Given the description of an element on the screen output the (x, y) to click on. 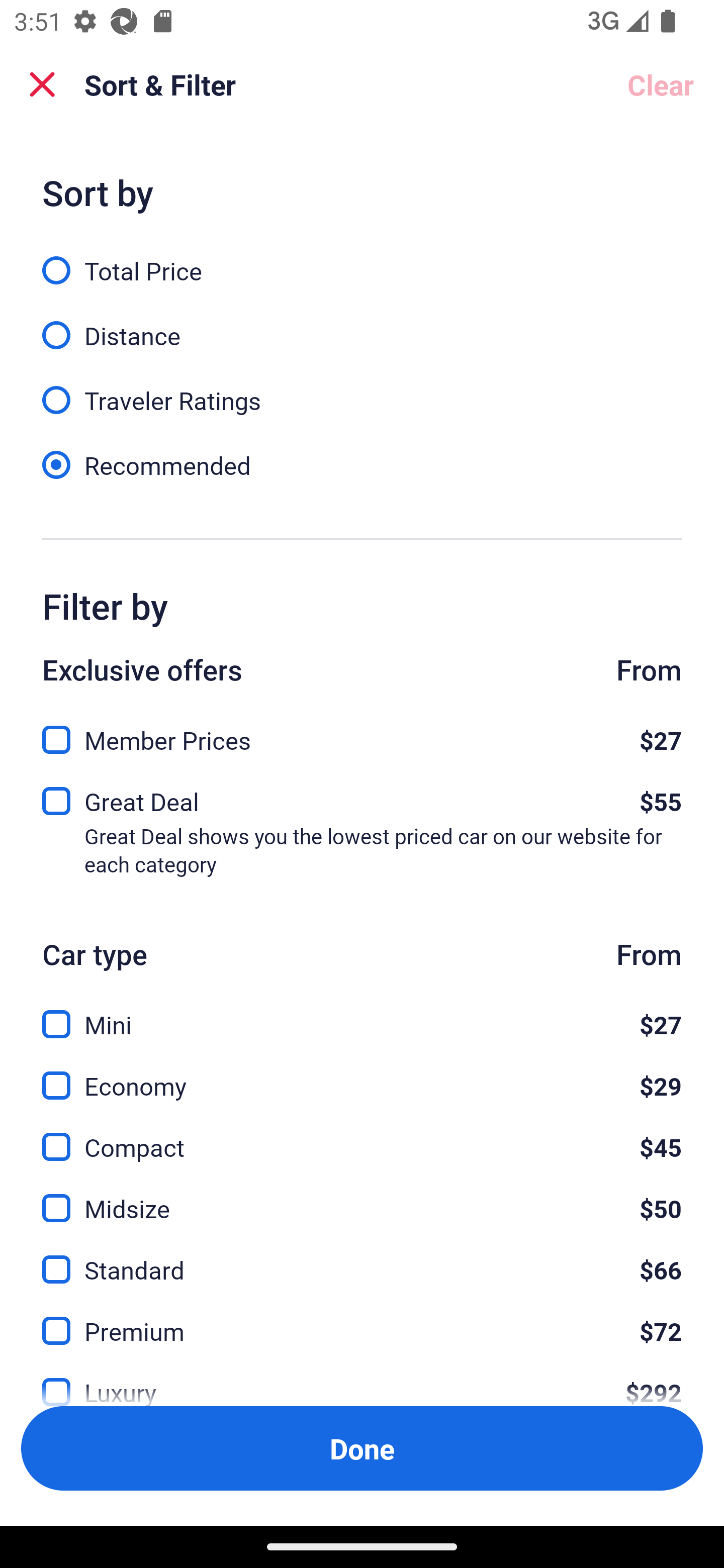
Close Sort and Filter (42, 84)
Clear (660, 84)
Total Price (361, 259)
Distance (361, 324)
Traveler Ratings (361, 389)
Member Prices, $27 Member Prices $27 (361, 734)
Mini, $27 Mini $27 (361, 1013)
Economy, $29 Economy $29 (361, 1074)
Compact, $45 Compact $45 (361, 1135)
Midsize, $50 Midsize $50 (361, 1196)
Standard, $66 Standard $66 (361, 1257)
Premium, $72 Premium $72 (361, 1319)
Luxury, $292 Luxury $292 (361, 1378)
Apply and close Sort and Filter Done (361, 1448)
